Given the description of an element on the screen output the (x, y) to click on. 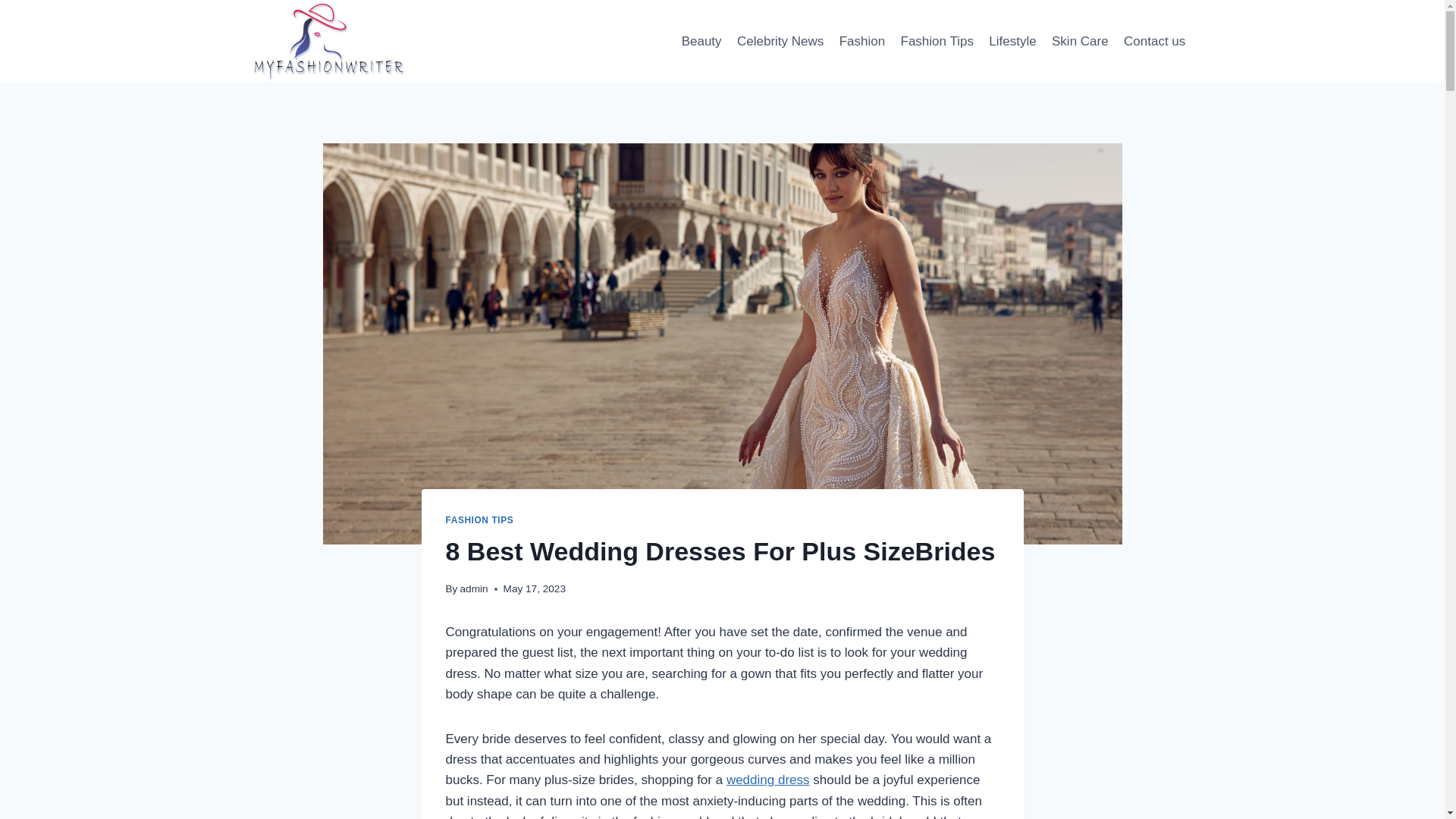
admin (473, 588)
Celebrity News (780, 41)
Fashion Tips (936, 41)
Beauty (700, 41)
Fashion (861, 41)
FASHION TIPS (479, 520)
Skin Care (1079, 41)
Contact us (1154, 41)
wedding dress (767, 780)
Lifestyle (1012, 41)
